Given the description of an element on the screen output the (x, y) to click on. 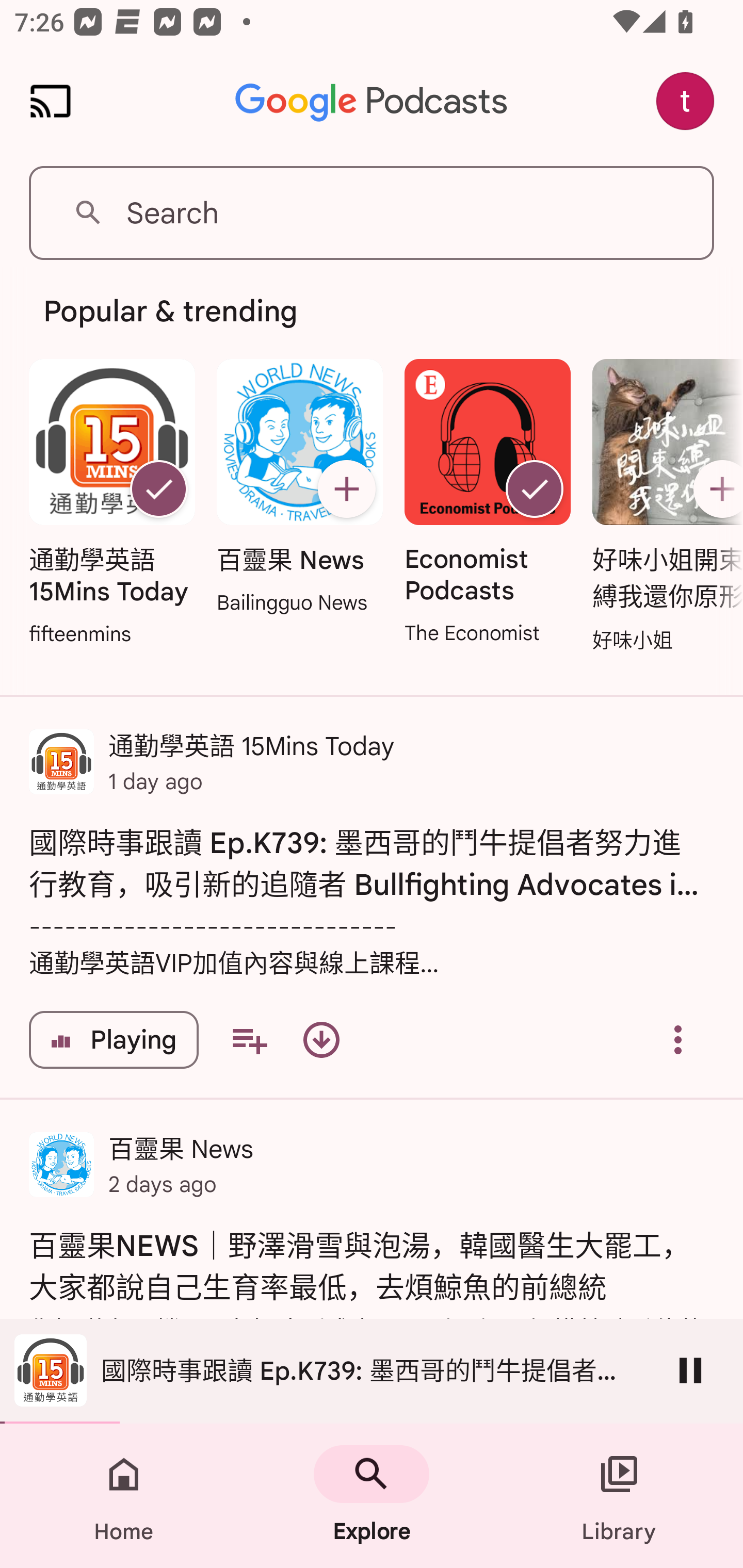
Cast. Disconnected (50, 101)
Search (371, 212)
百靈果 News Subscribe 百靈果 News Bailingguo News (299, 488)
好味小姐開束縛我還你原形 Subscribe 好味小姐開束縛我還你原形 好味小姐 (662, 507)
Unsubscribe (158, 489)
Subscribe (346, 489)
Unsubscribe (534, 489)
Subscribe (714, 489)
Add to your queue (249, 1040)
Download episode (321, 1040)
Overflow menu (677, 1040)
Pause (690, 1370)
Home (123, 1495)
Library (619, 1495)
